Given the description of an element on the screen output the (x, y) to click on. 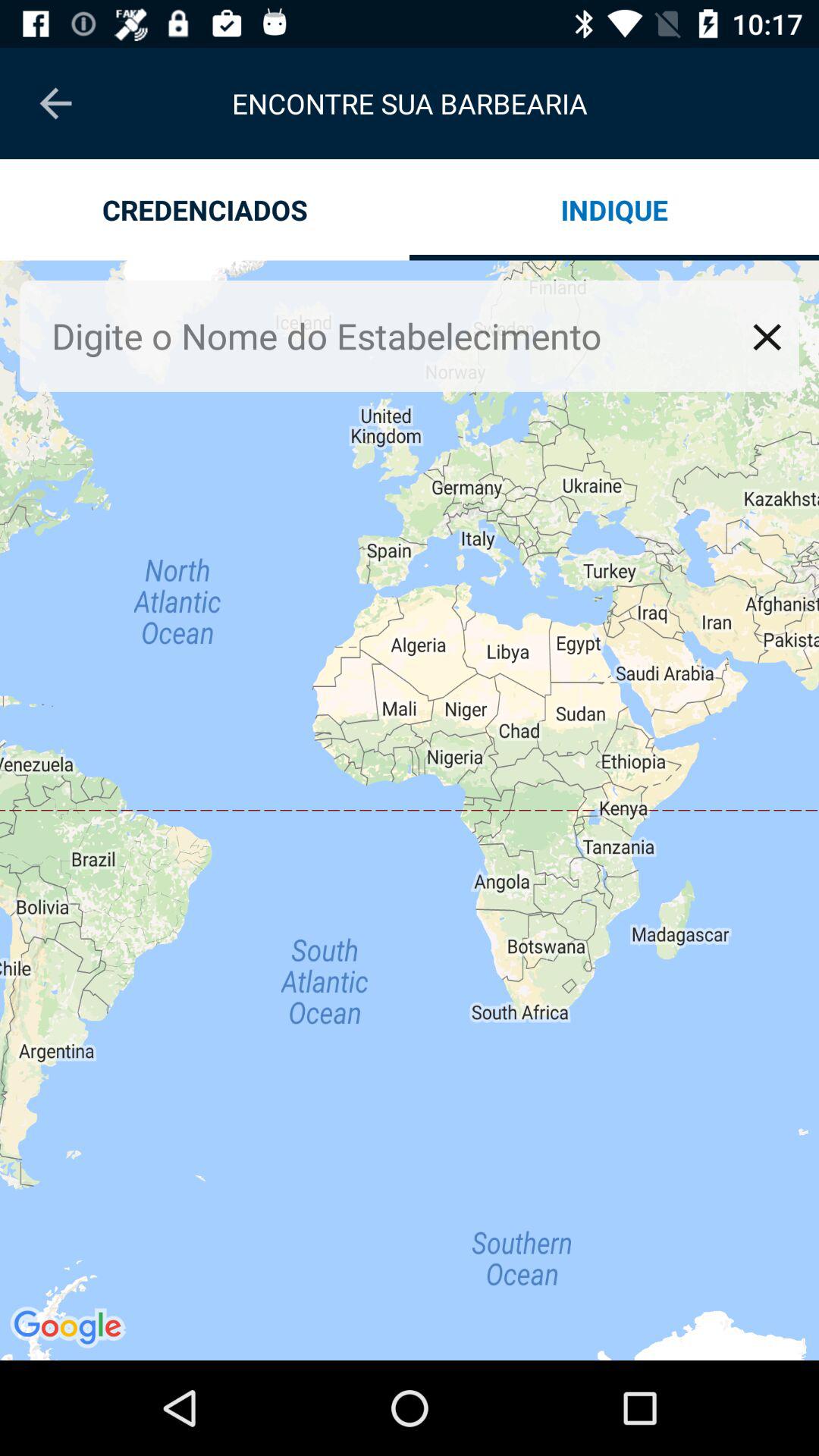
launch item below indique (767, 337)
